Given the description of an element on the screen output the (x, y) to click on. 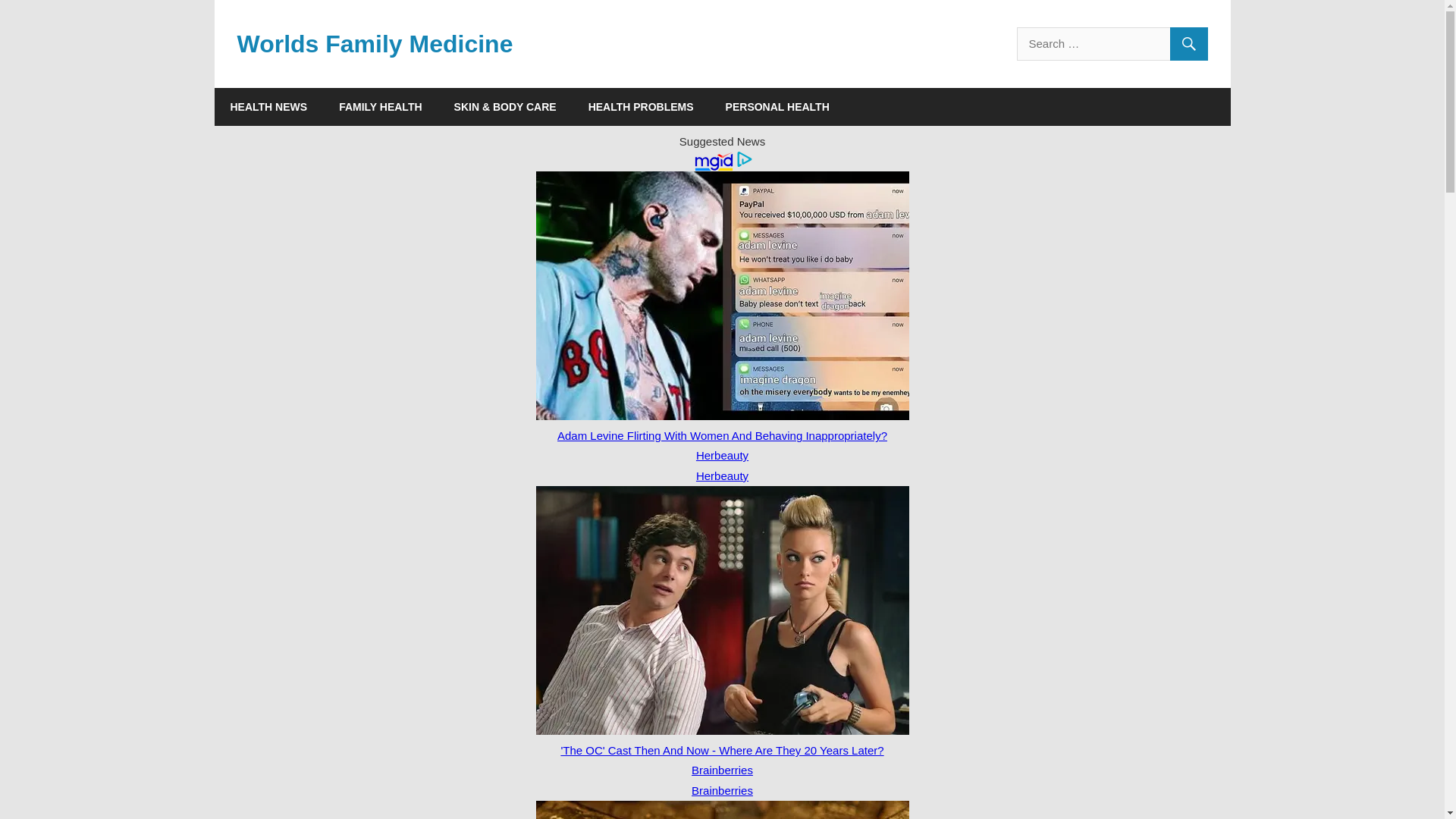
HEALTH PROBLEMS (641, 106)
FAMILY HEALTH (380, 106)
Worlds Family Medicine (373, 43)
Search for: (1111, 43)
HEALTH NEWS (268, 106)
PERSONAL HEALTH (777, 106)
